Given the description of an element on the screen output the (x, y) to click on. 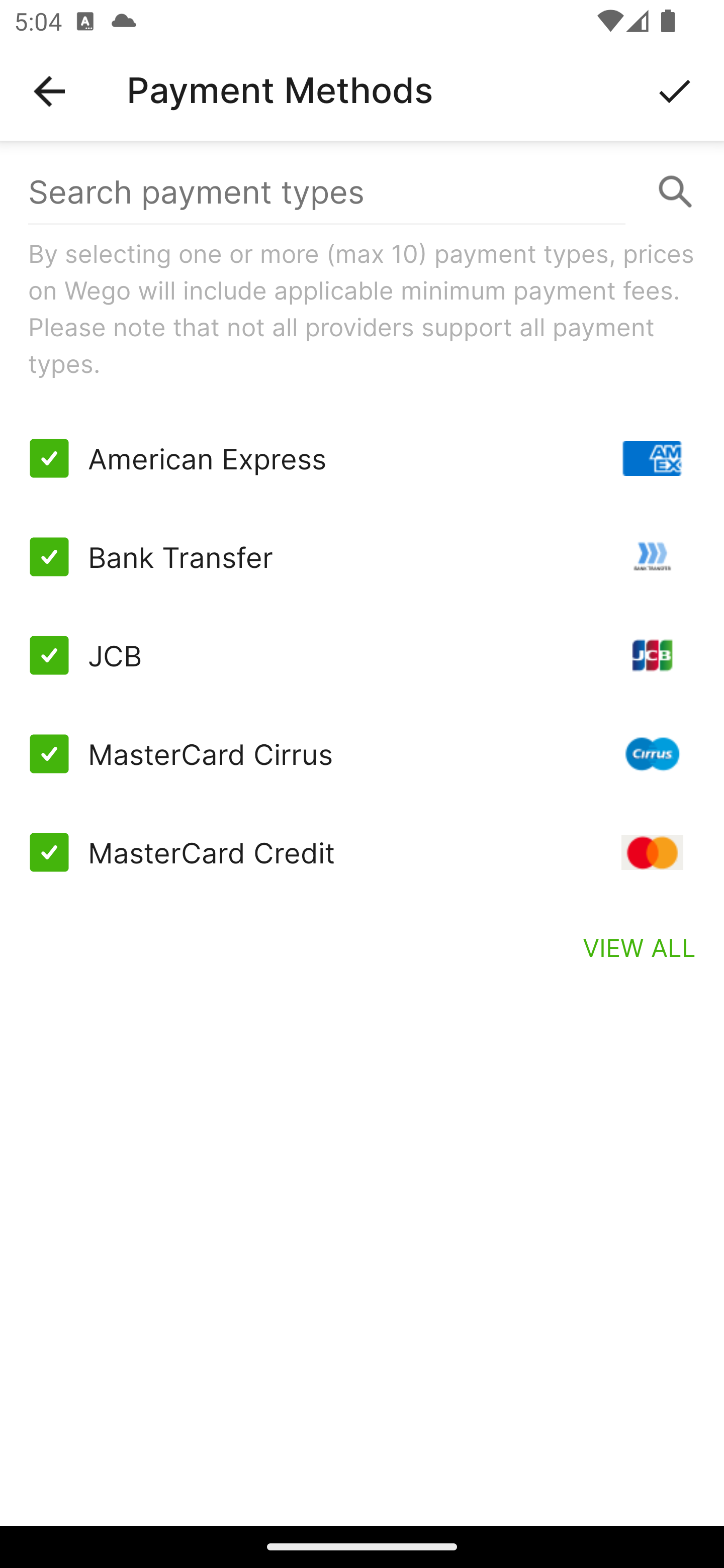
Search payment types  (361, 191)
American Express (362, 458)
Bank Transfer (362, 557)
JCB (362, 655)
MasterCard Cirrus (362, 753)
MasterCard Credit (362, 851)
VIEW ALL (639, 946)
